Given the description of an element on the screen output the (x, y) to click on. 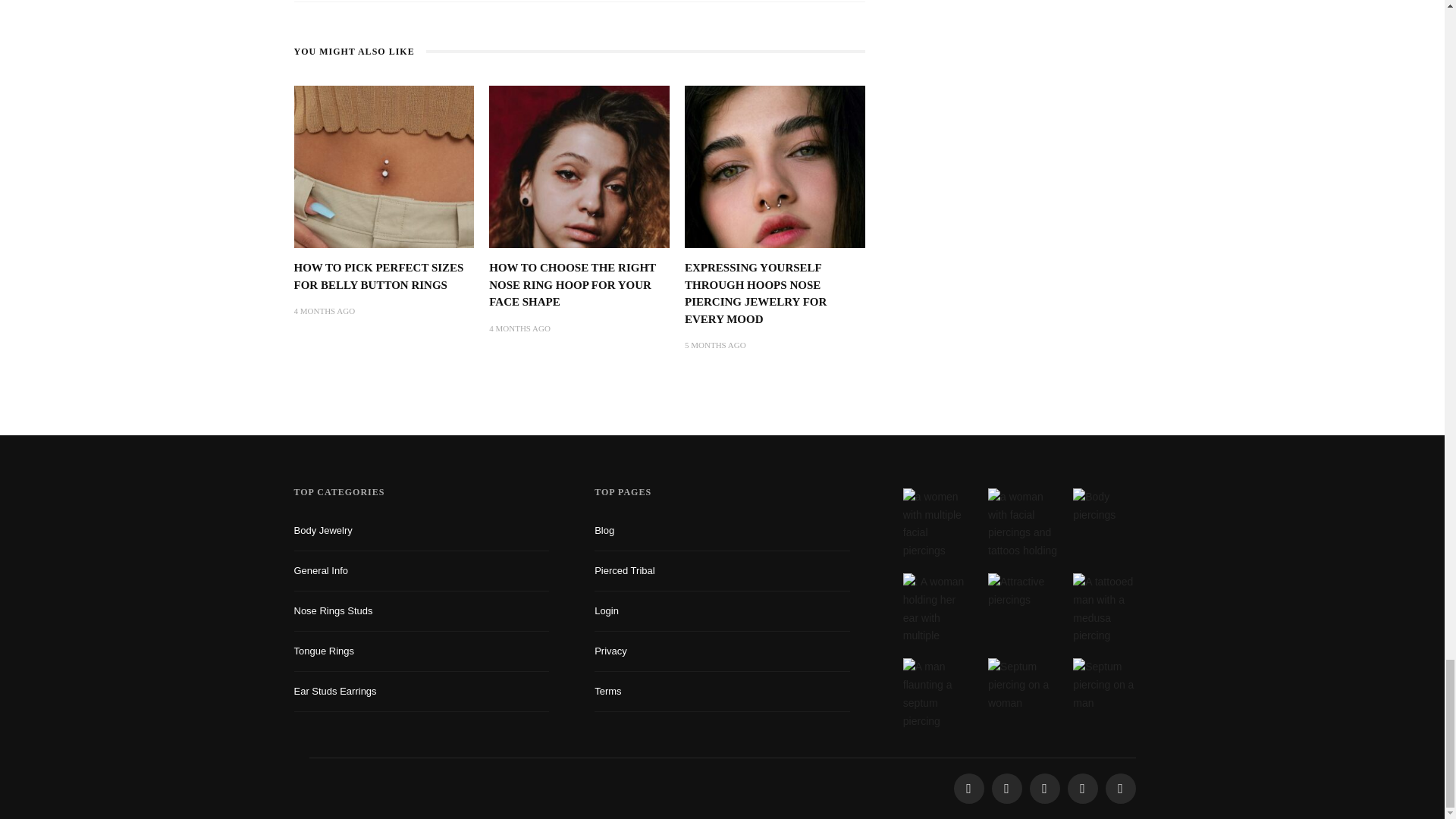
How To Pick Perfect Sizes For Belly Button Rings (384, 165)
How To Choose The Right Nose Ring Hoop For Your Face Shape (572, 284)
How To Pick Perfect Sizes For Belly Button Rings (379, 276)
How To Choose The Right Nose Ring Hoop For Your Face Shape (579, 165)
